Given the description of an element on the screen output the (x, y) to click on. 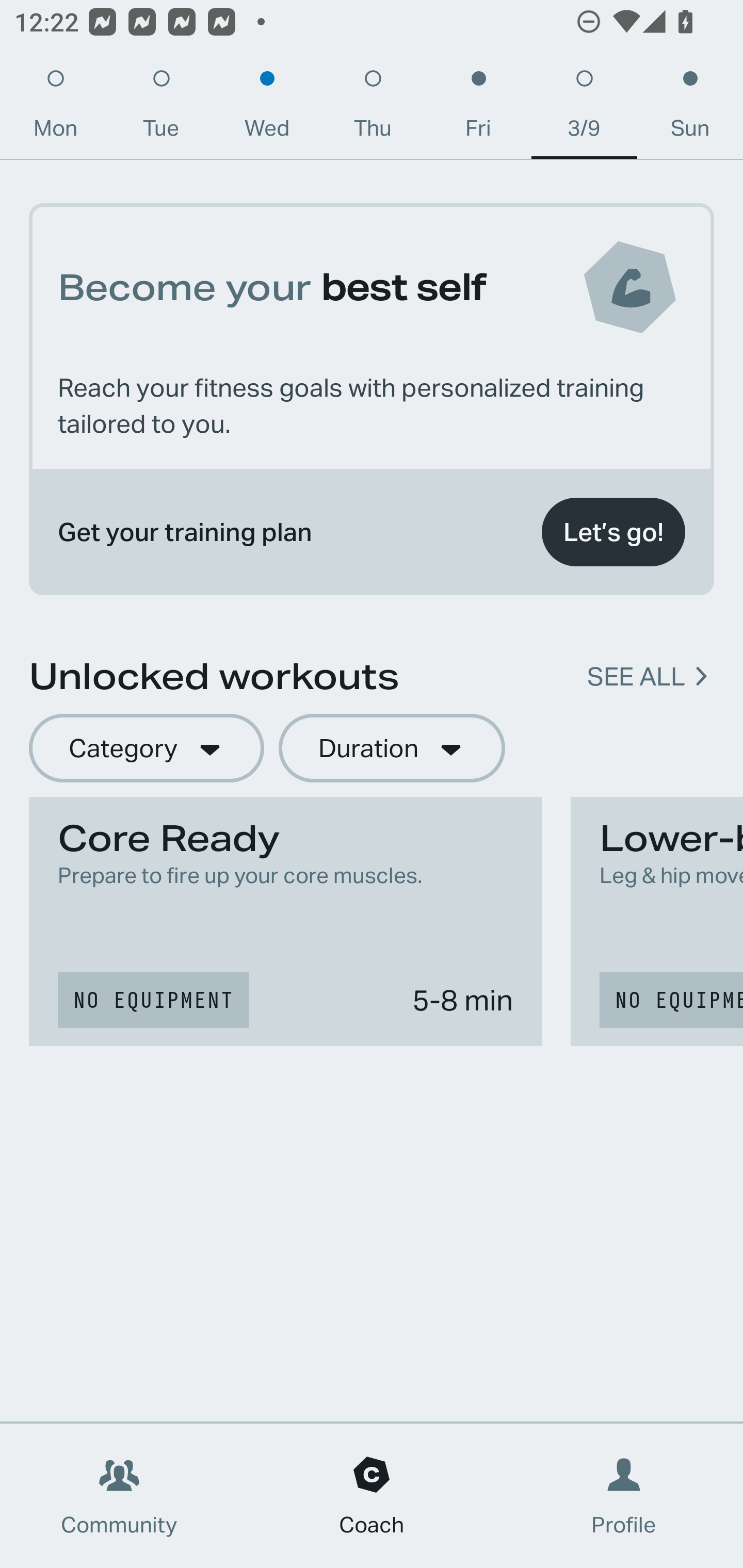
Mon (55, 108)
Tue (160, 108)
Wed (266, 108)
Thu (372, 108)
Fri (478, 108)
3/9 (584, 108)
Sun (690, 108)
Let’s go! (613, 532)
SEE ALL (635, 676)
Category (146, 748)
Duration (391, 748)
Community (119, 1495)
Profile (624, 1495)
